Given the description of an element on the screen output the (x, y) to click on. 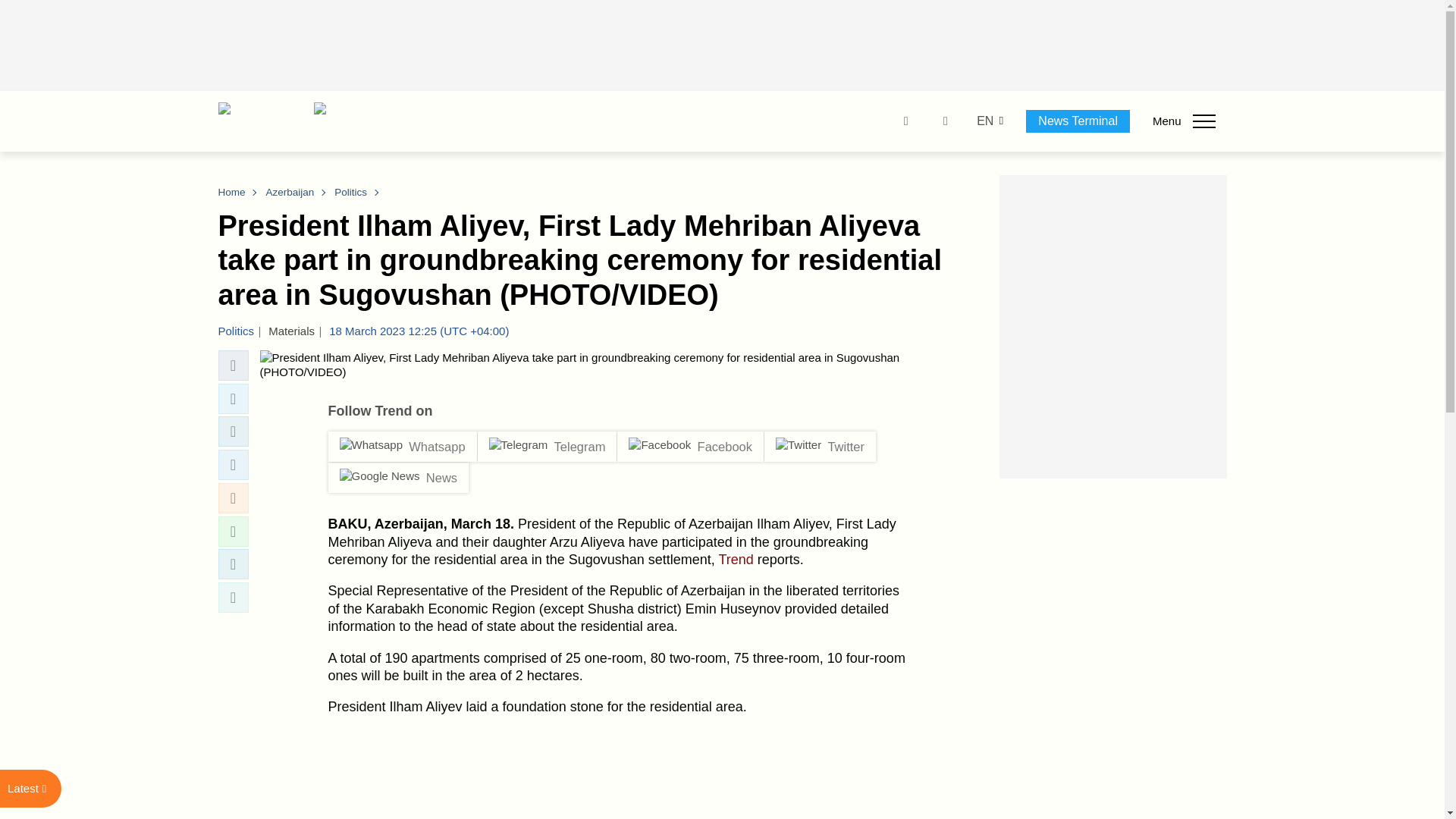
News Terminal (1077, 120)
EN (984, 121)
English (984, 121)
